Given the description of an element on the screen output the (x, y) to click on. 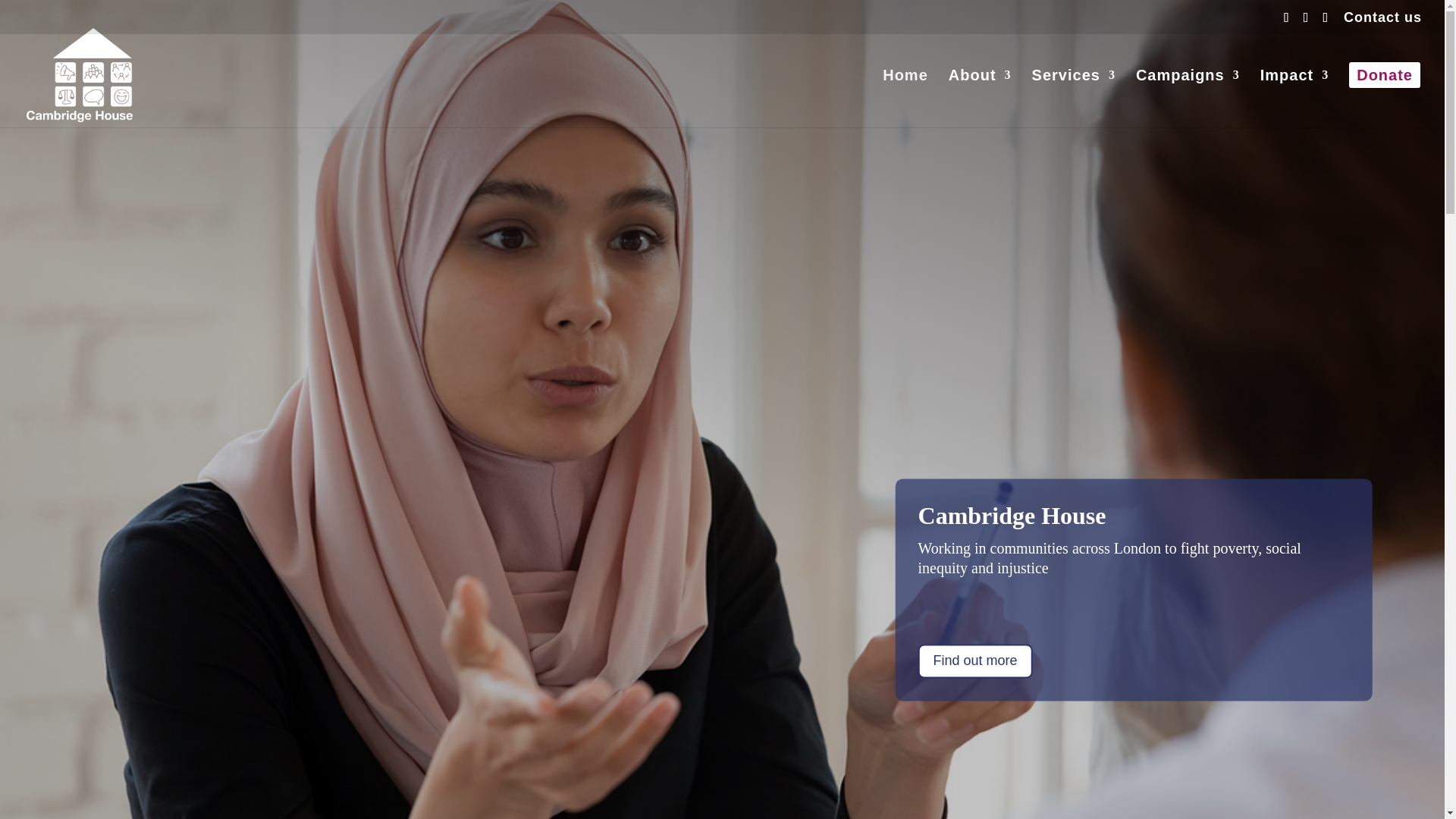
Campaigns (1187, 97)
About (980, 97)
Contact us (1382, 22)
Impact (1293, 97)
Services (1073, 97)
Donate (1384, 94)
